Given the description of an element on the screen output the (x, y) to click on. 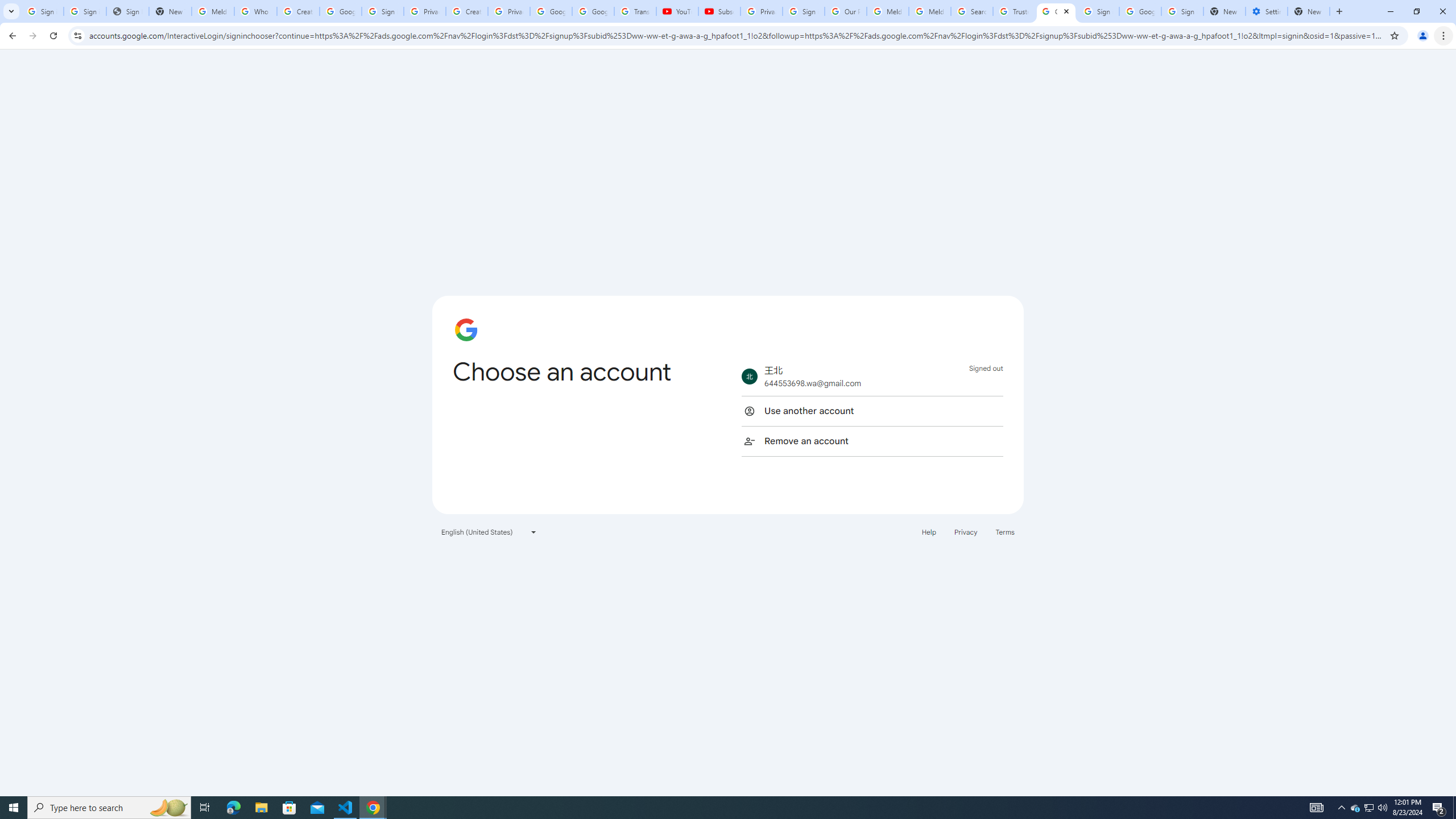
New Tab (1338, 11)
Sign in - Google Accounts (1182, 11)
Create your Google Account (298, 11)
Terms (1005, 531)
Forward (32, 35)
Sign In - USA TODAY (127, 11)
Google Account (592, 11)
Trusted Information and Content - Google Safety Center (1013, 11)
Subscriptions - YouTube (719, 11)
Search our Doodle Library Collection - Google Doodles (972, 11)
Restore (1416, 11)
